Given the description of an element on the screen output the (x, y) to click on. 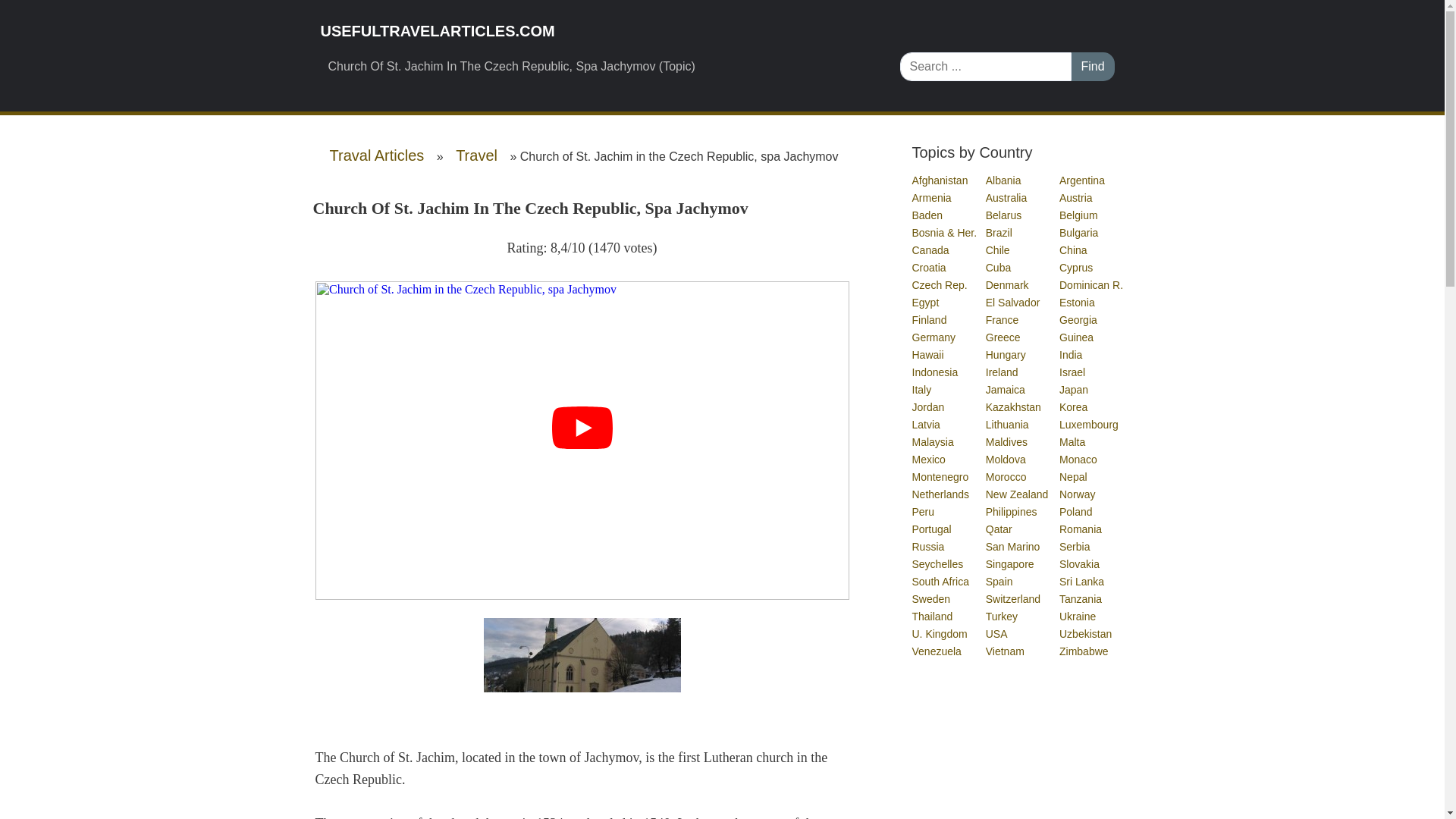
Croatia (929, 267)
Czech Rep. (939, 285)
Australia (1006, 197)
Baden (927, 215)
Armenia (931, 197)
Canada (930, 250)
Find (1091, 66)
Egypt (925, 302)
Denmark (1007, 285)
Dominican R. (1091, 285)
Albania (1004, 180)
Bulgaria (1079, 232)
Greece (1003, 337)
El Salvador (1013, 302)
